Given the description of an element on the screen output the (x, y) to click on. 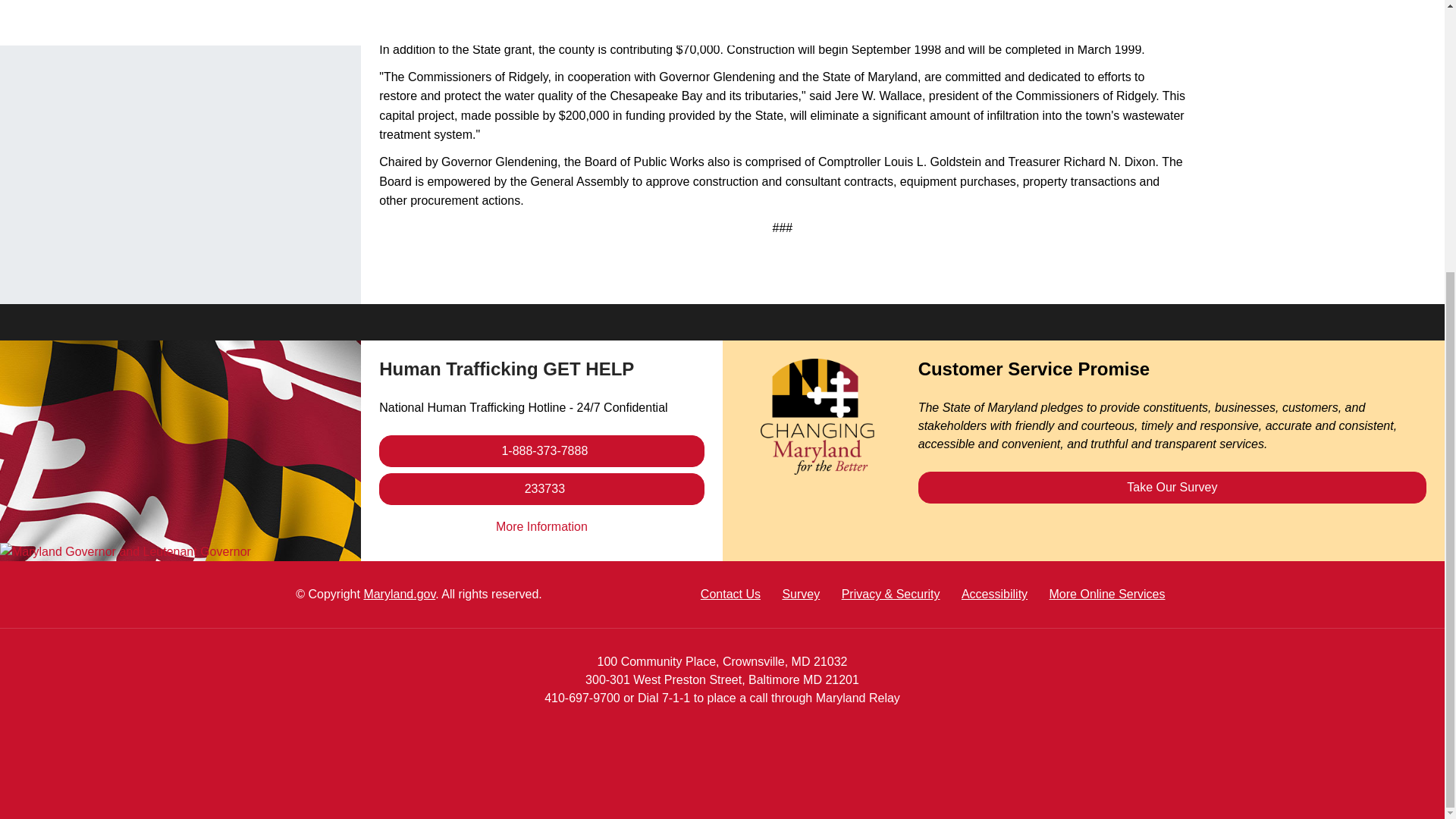
Accessibility (993, 594)
Maryland.gov (398, 594)
233733 (540, 489)
Take Our Survey (1172, 487)
1-888-373-7888 (540, 526)
Survey (540, 450)
Contact Us (800, 594)
More Online Services (730, 594)
